Given the description of an element on the screen output the (x, y) to click on. 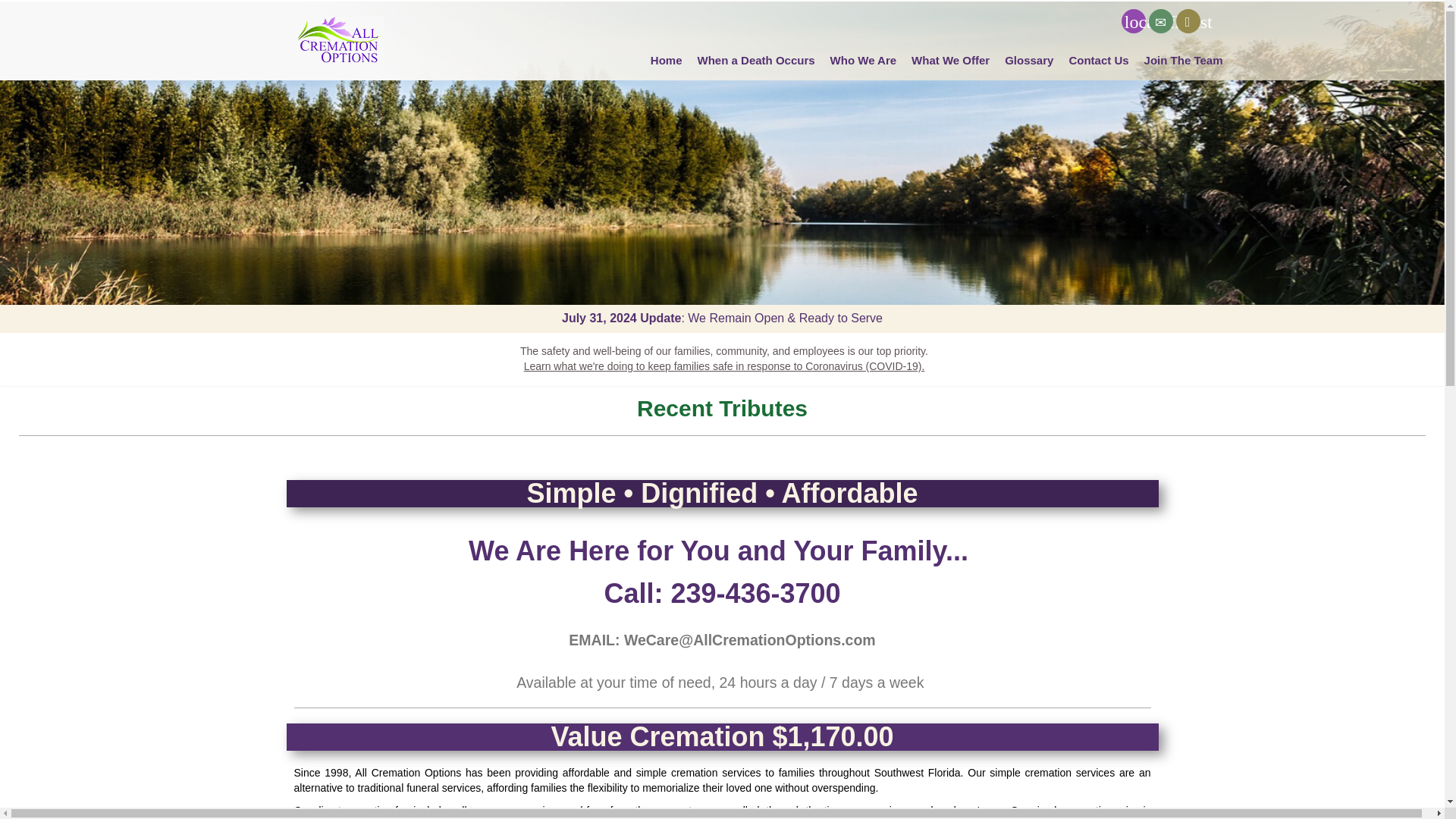
Glossary (1029, 60)
Contact Us (1098, 60)
Send Flowers (1133, 21)
Contact Us (1160, 21)
When a Death Occurs (756, 60)
Who We Are (863, 60)
Join The Team (1183, 60)
What We Offer (950, 60)
Directions (1186, 21)
Home (341, 41)
Home (666, 60)
